Given the description of an element on the screen output the (x, y) to click on. 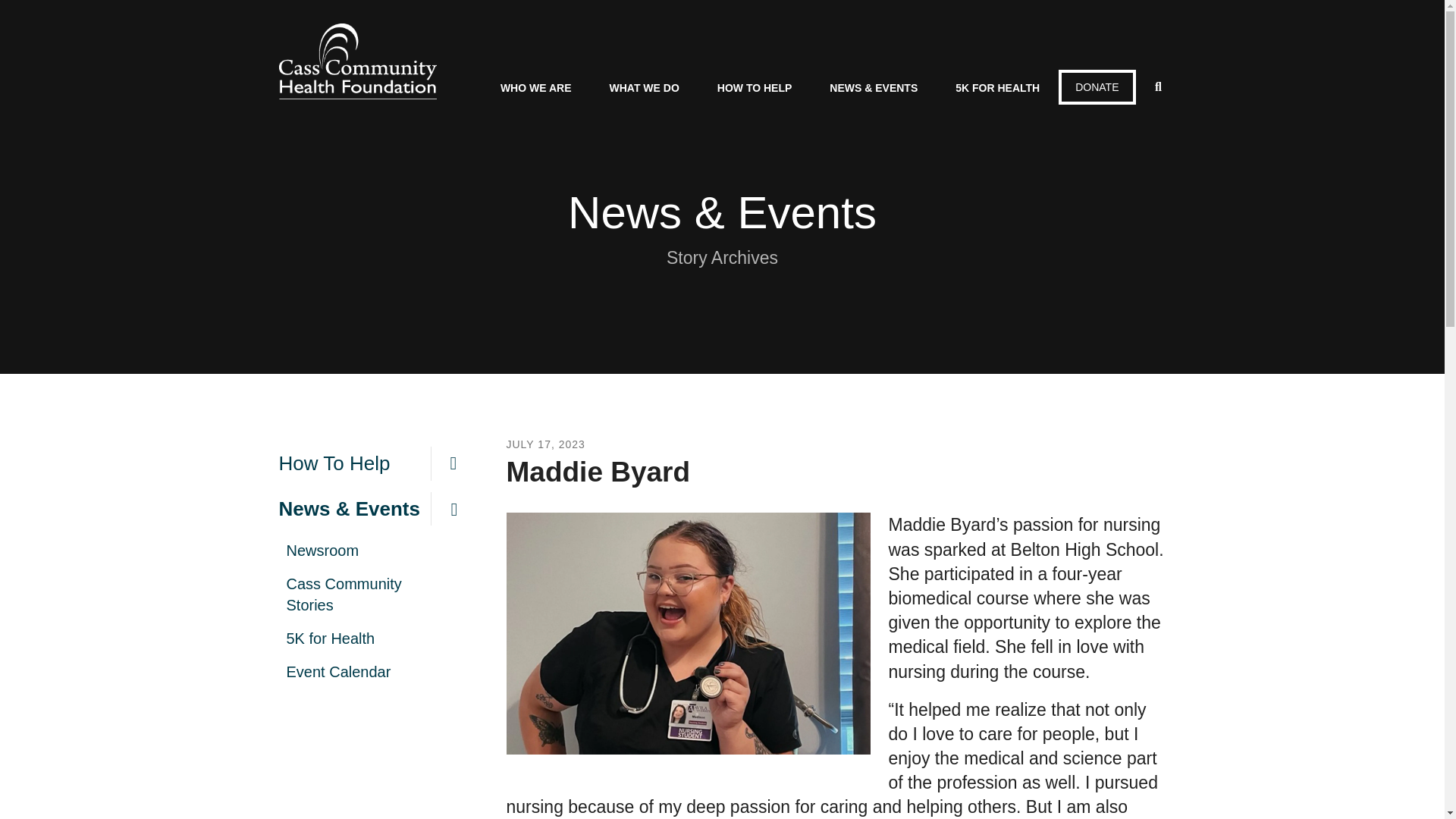
How To Help (377, 462)
5K for Health (377, 637)
logo (357, 61)
Event Calendar (377, 671)
Cass Community Stories (377, 594)
Newsroom (377, 550)
WHO WE ARE (536, 90)
HOW TO HELP (754, 90)
WHAT WE DO (644, 90)
DONATE (1096, 86)
